Given the description of an element on the screen output the (x, y) to click on. 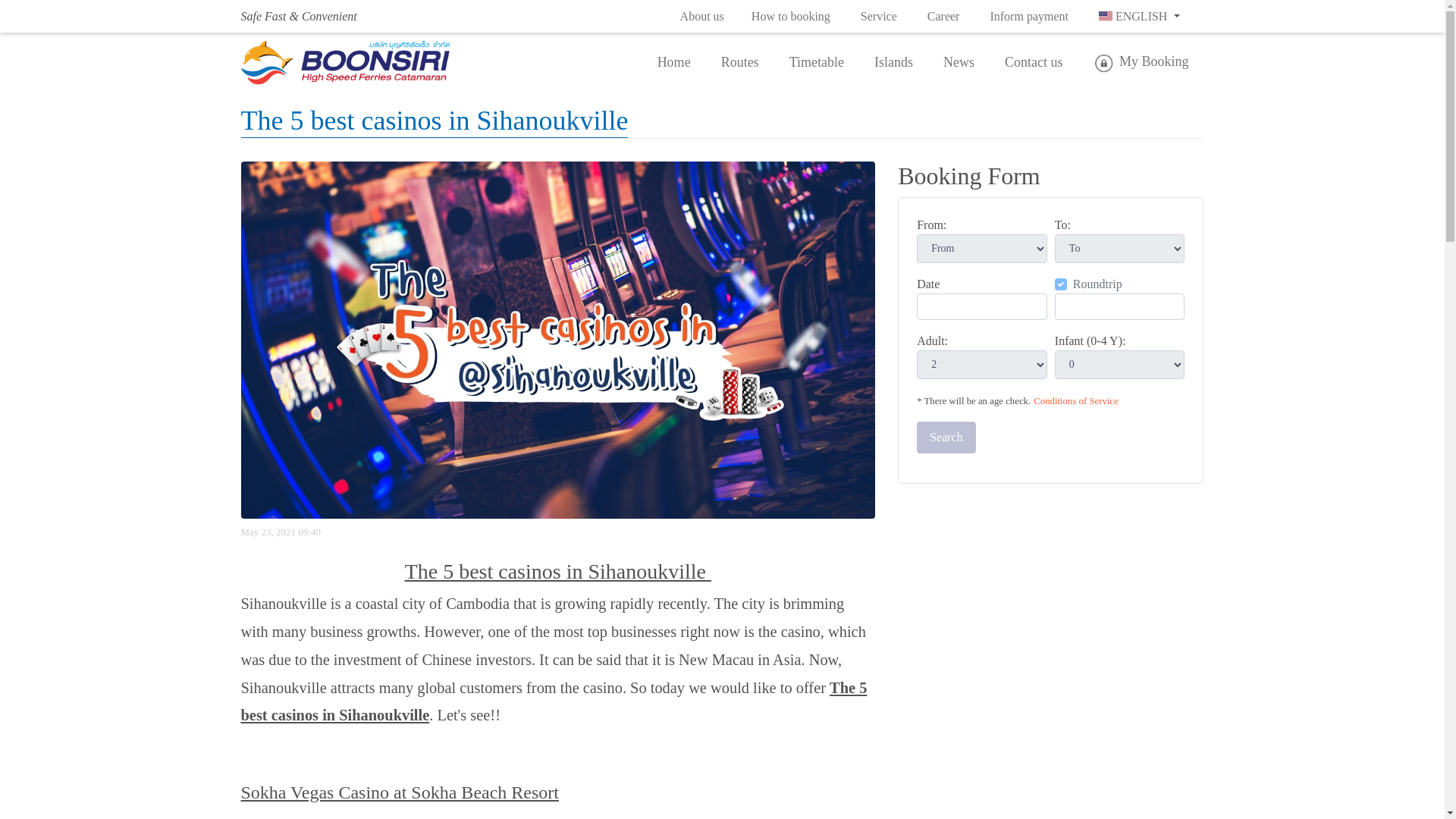
My Booking (1140, 62)
Home Boonsiri Ferry Koh Kood Koh Mak Koh Chang (682, 62)
Routes Boonsiri Ferry Koh Kood Koh Mak Koh Chang (740, 62)
Routes (740, 62)
Contact us Boonsiri Ferry Koh Kood Koh Mak Koh Chang (1034, 62)
Islands Boonsiri Ferry Koh Kood Koh Mak Koh Chang (893, 62)
Home (682, 62)
Inform payment (1028, 16)
Timetable Boonsiri Ferry Koh Kood Koh Mak Koh Chang (816, 62)
How to booking (791, 16)
News Boonsiri Ferry Koh Kood Koh Mak Koh Chang (959, 62)
How to booking Boonsiri Ferry Koh Kood Koh Mak Koh Chang (791, 16)
ENGLISH (1139, 16)
News (959, 62)
Contact us (1034, 62)
